Given the description of an element on the screen output the (x, y) to click on. 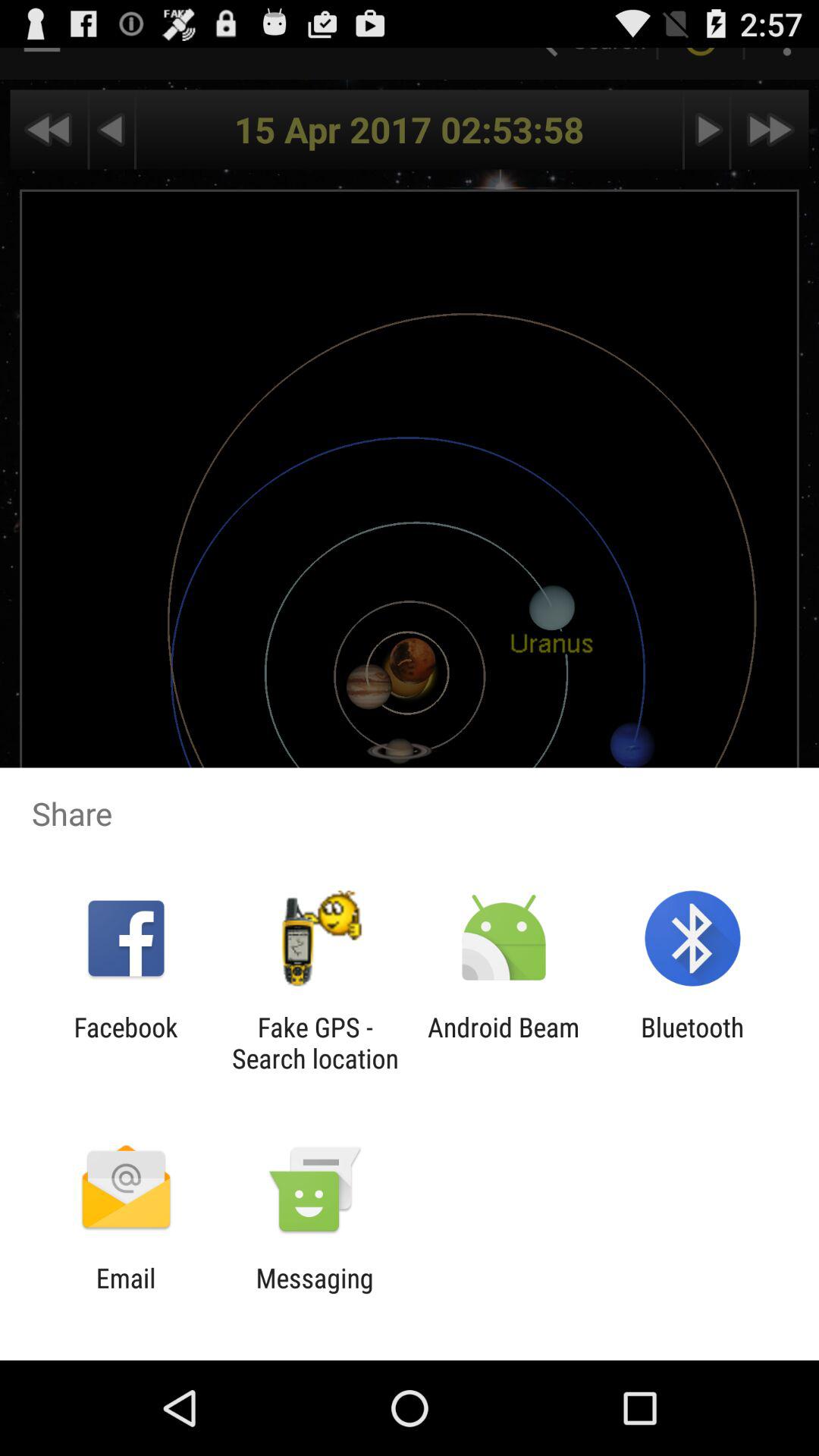
flip until facebook app (125, 1042)
